Given the description of an element on the screen output the (x, y) to click on. 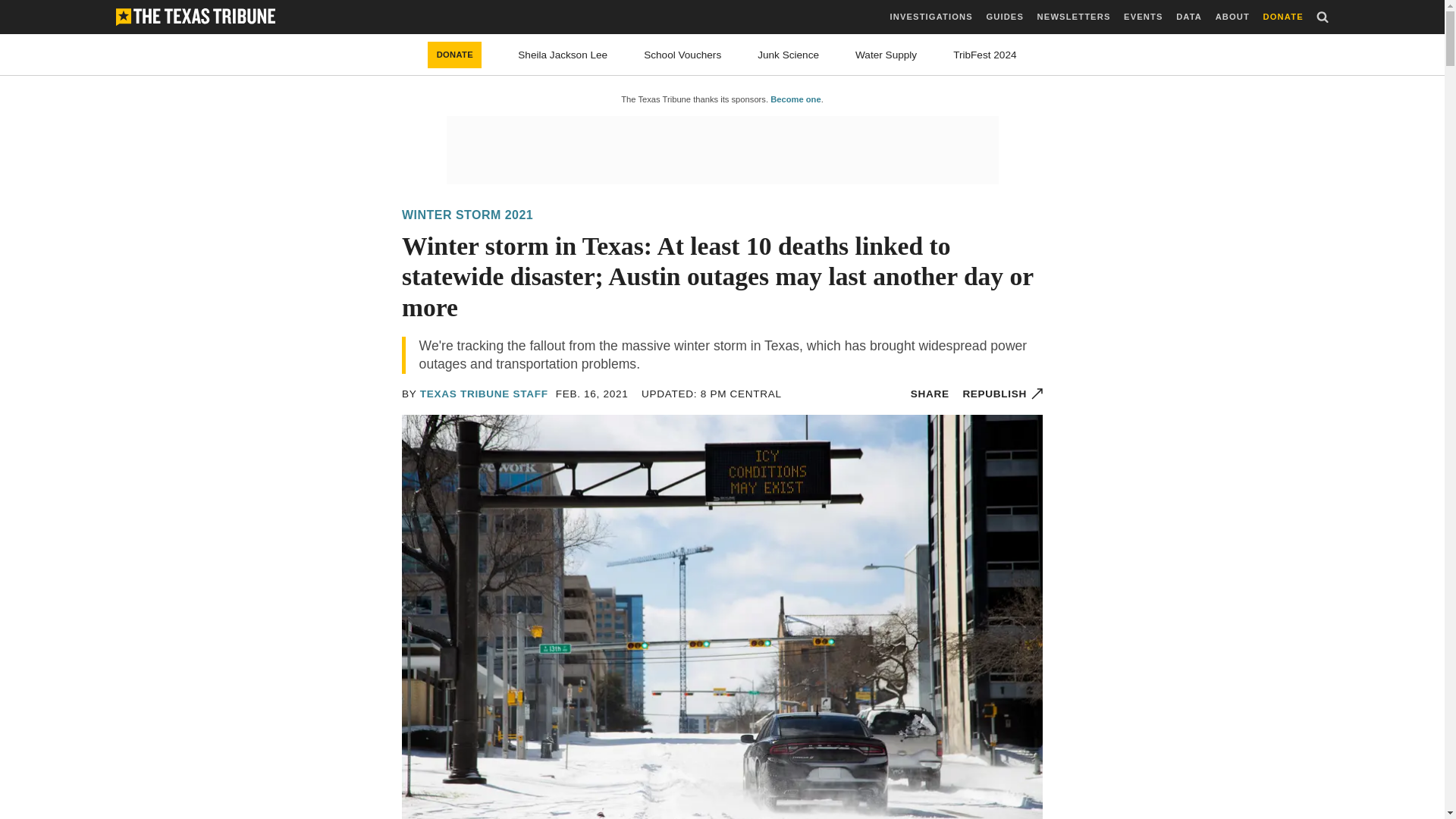
TribFest 2024 (984, 54)
2021-02-16 20:40 CST (711, 393)
DATA (1189, 17)
Junk Science (787, 54)
NEWSLETTERS (1073, 17)
INVESTIGATIONS (930, 17)
TEXAS TRIBUNE STAFF (484, 393)
GUIDES (1004, 17)
2021-02-16 10:20 CST (592, 393)
EVENTS (1142, 17)
DONATE (454, 54)
ABOUT (1232, 17)
Water Supply (886, 54)
Sheila Jackson Lee (562, 54)
WINTER STORM 2021 (466, 214)
